Given the description of an element on the screen output the (x, y) to click on. 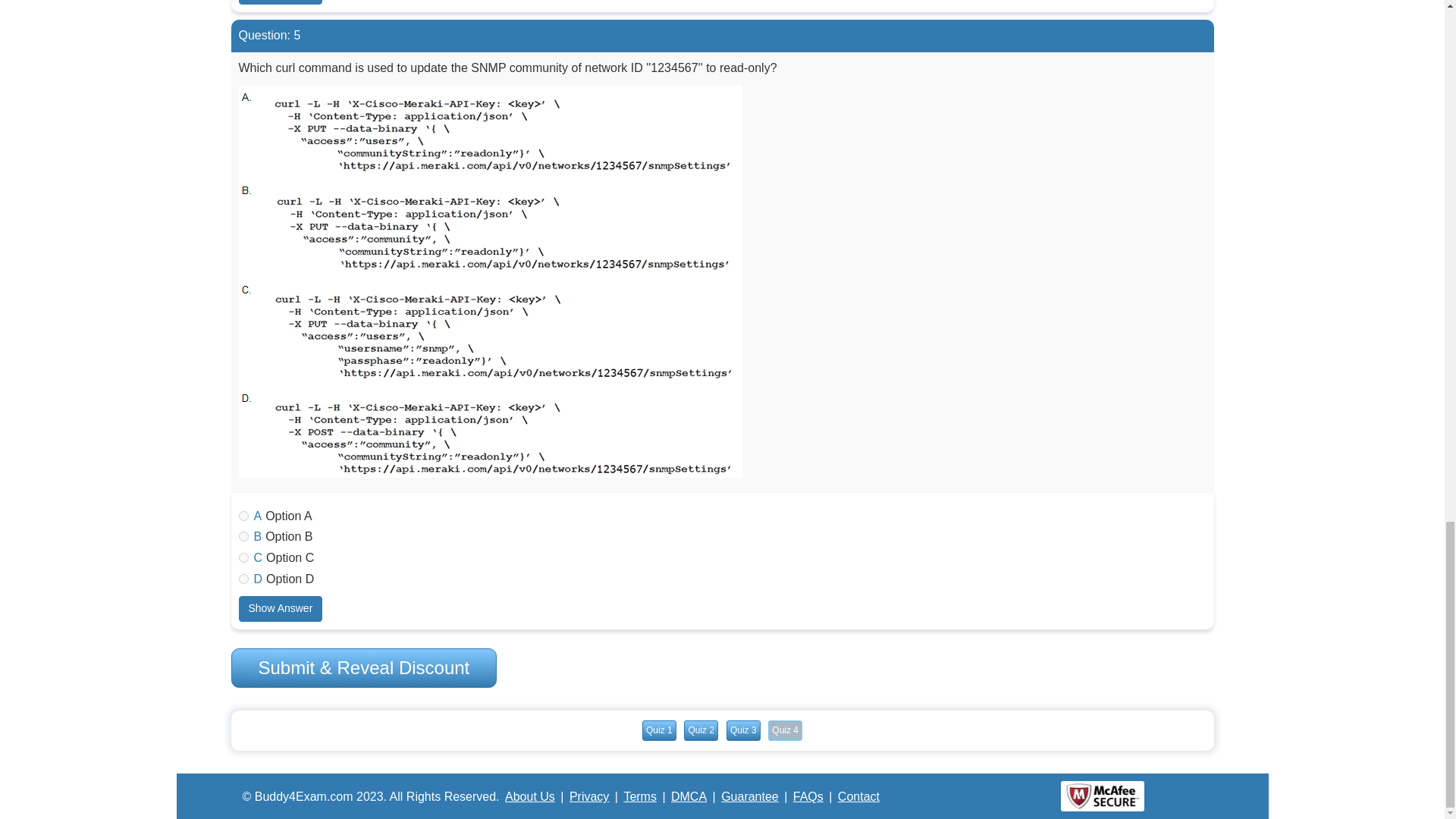
C (242, 557)
Quiz 1 (659, 730)
Privacy (588, 796)
Quiz 1 (659, 730)
Quiz 2 (700, 730)
Quiz 4 (785, 730)
About Us (529, 796)
Quiz 2 (700, 730)
Quiz 3 (743, 730)
B (242, 536)
A (242, 515)
Quiz 3 (743, 730)
